Given the description of an element on the screen output the (x, y) to click on. 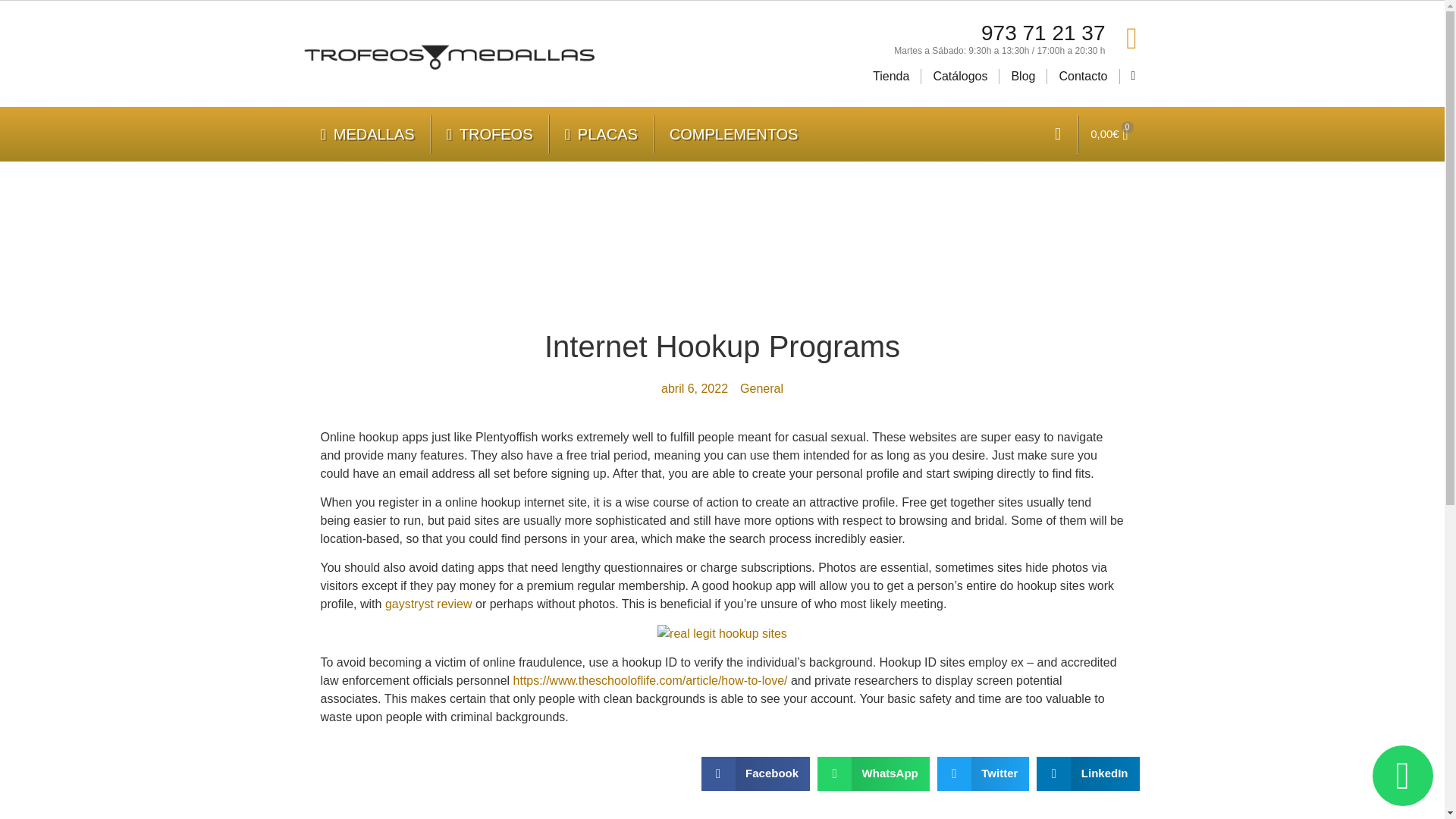
PLACAS (600, 134)
COMPLEMENTOS (733, 134)
Contacto (1082, 76)
973 71 21 37 (1043, 33)
MEDALLAS (366, 134)
Tienda (890, 76)
TROFEOS (489, 134)
Blog (1022, 76)
